Given the description of an element on the screen output the (x, y) to click on. 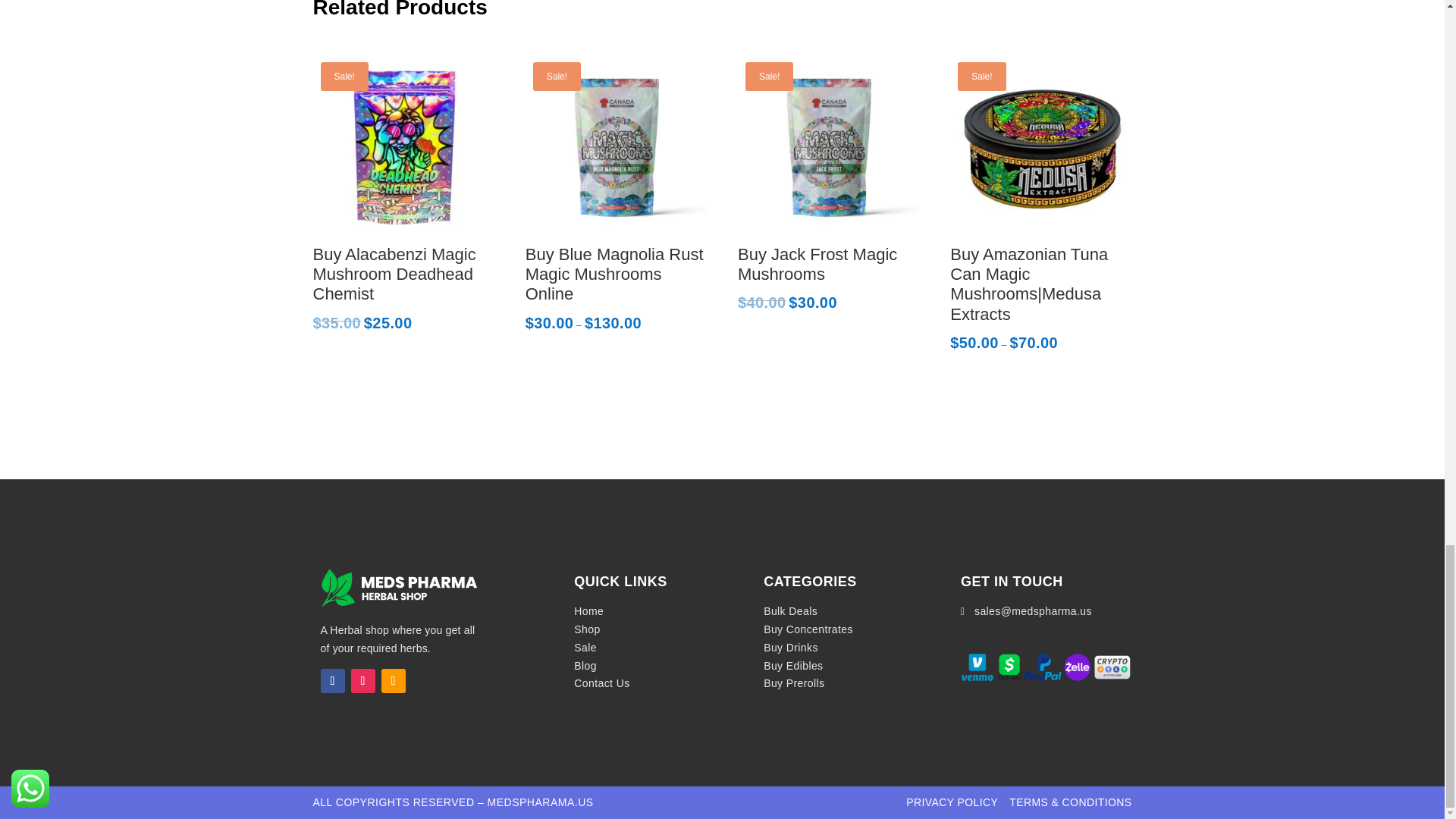
Follow on Facebook (331, 680)
medspharma-logo-white (397, 587)
Follow on Amazon (392, 680)
paymentmethods-4 (1045, 667)
Follow on Instagram (362, 680)
